Given the description of an element on the screen output the (x, y) to click on. 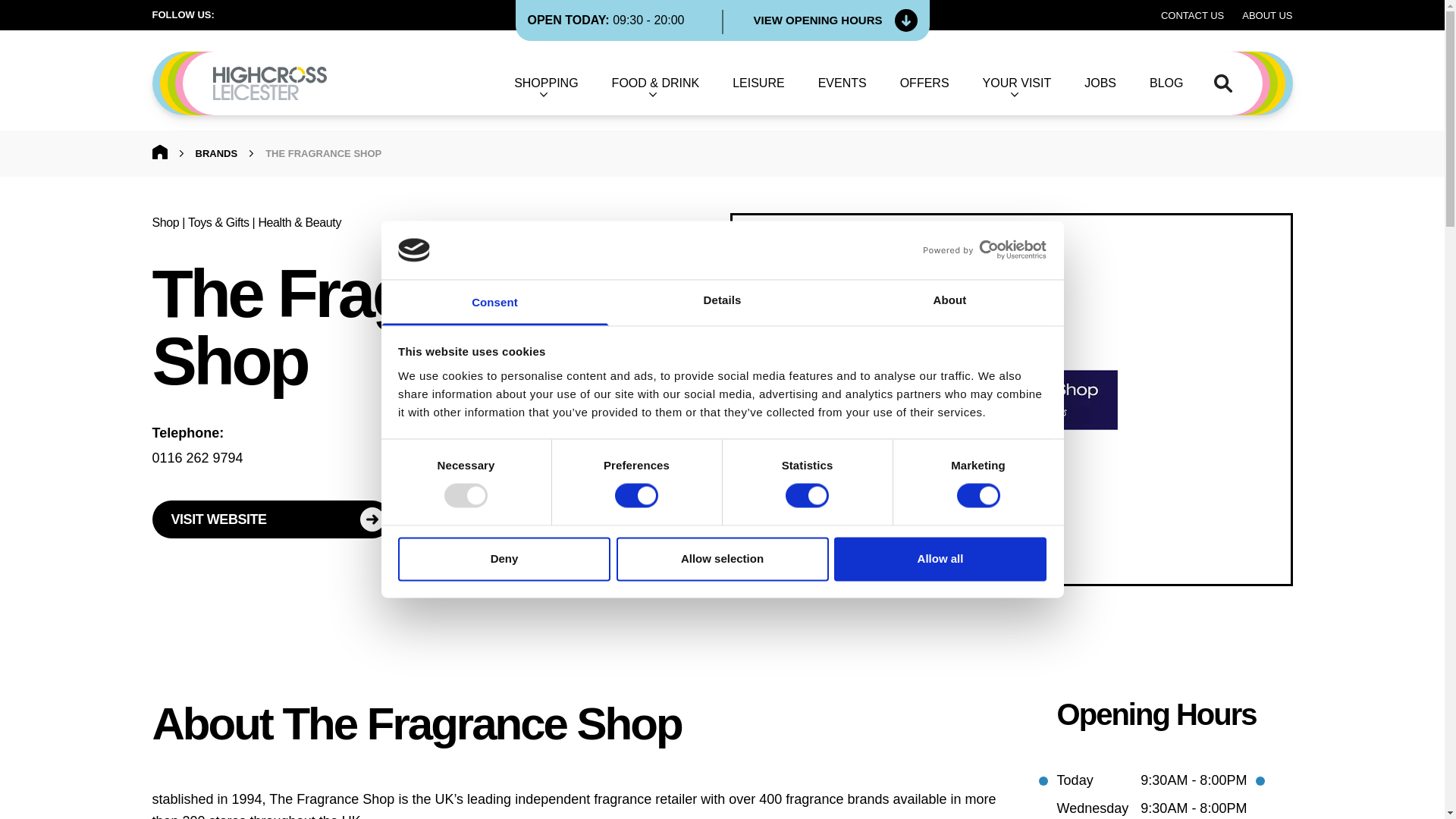
Details (721, 302)
About (948, 302)
Consent (494, 302)
